Given the description of an element on the screen output the (x, y) to click on. 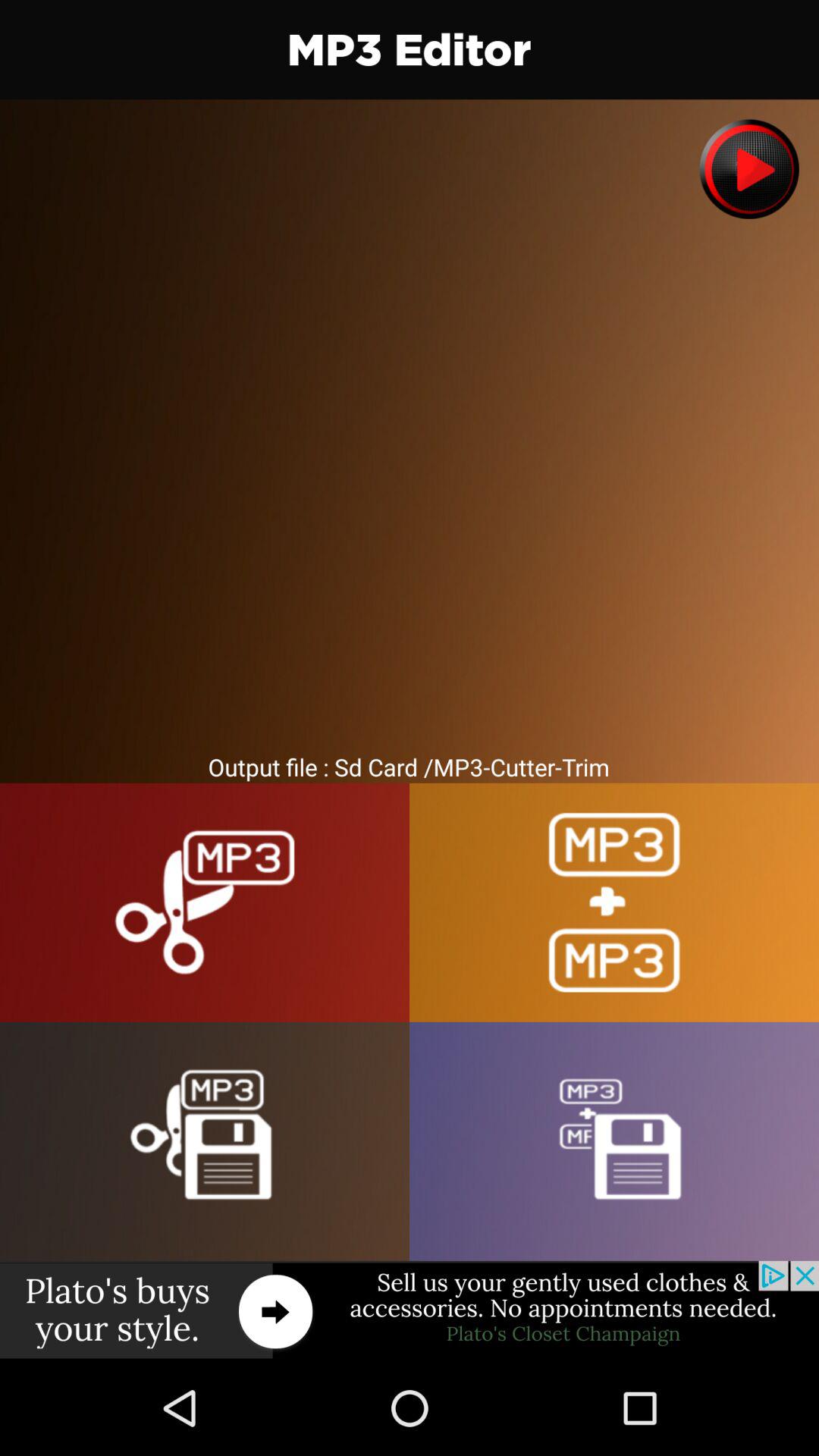
go to advertisement link (409, 1310)
